Given the description of an element on the screen output the (x, y) to click on. 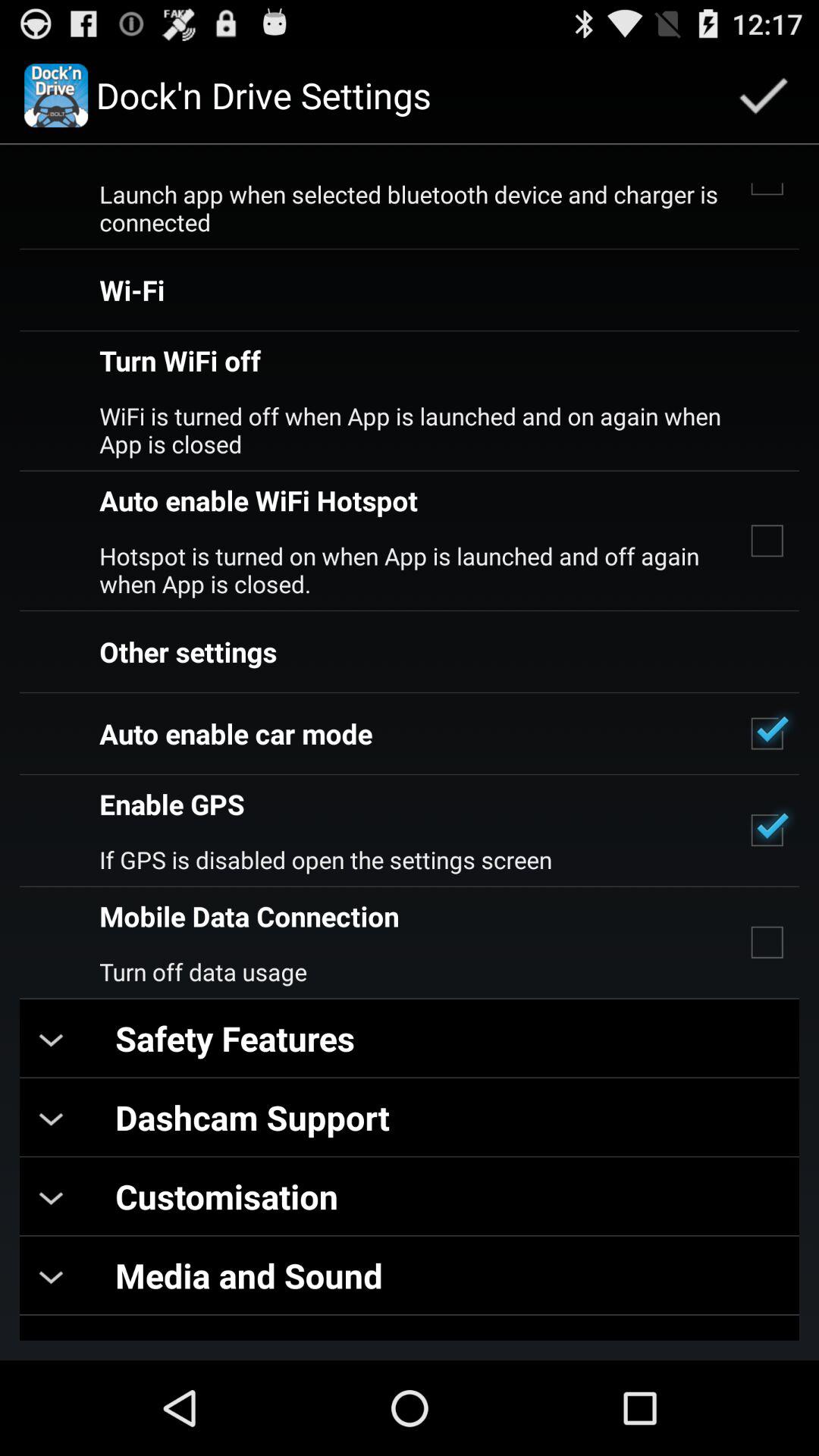
press app next to dock n drive icon (763, 95)
